Given the description of an element on the screen output the (x, y) to click on. 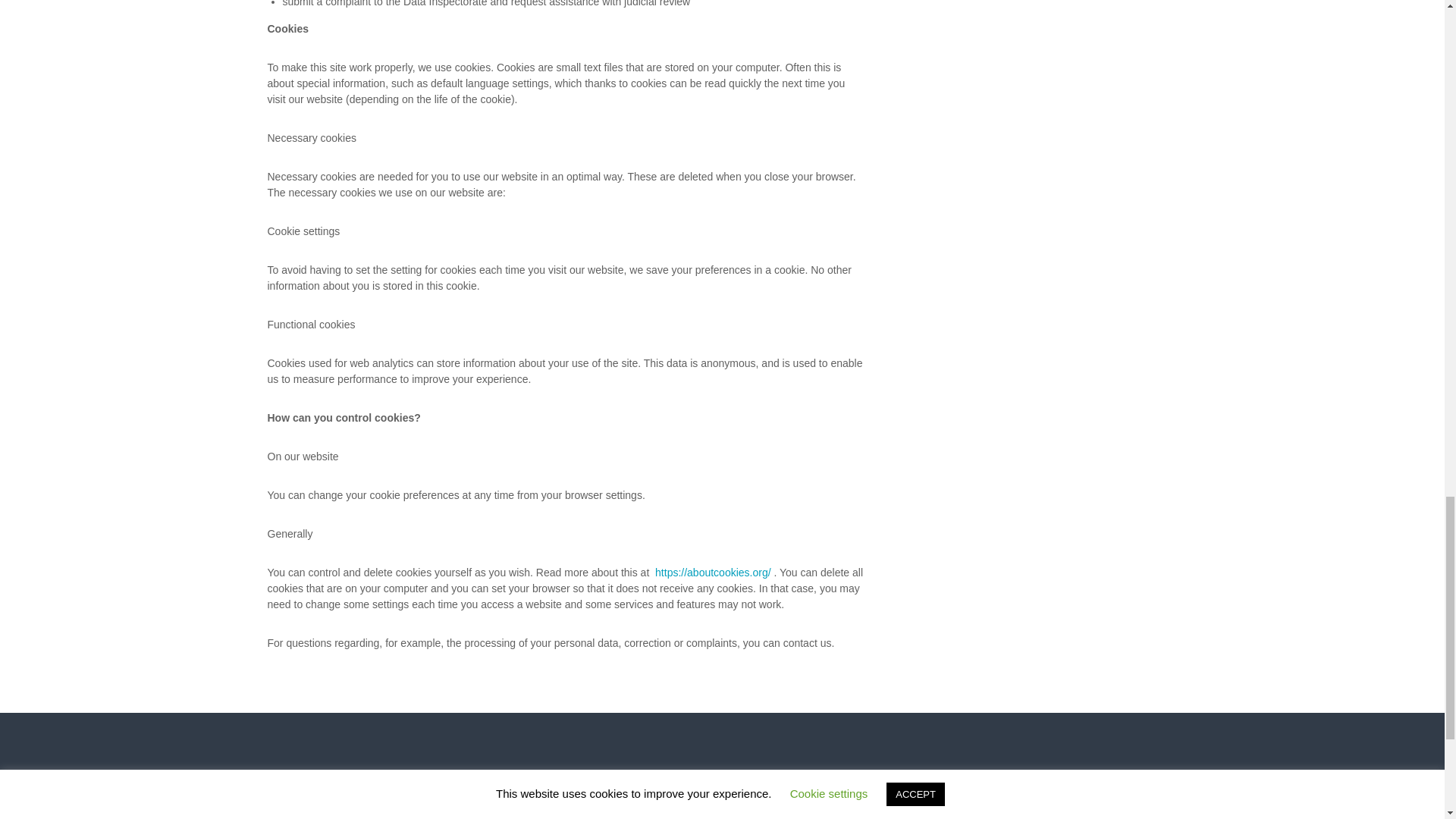
GDPR (298, 817)
Secure Remote Access With VPN (831, 817)
